Given the description of an element on the screen output the (x, y) to click on. 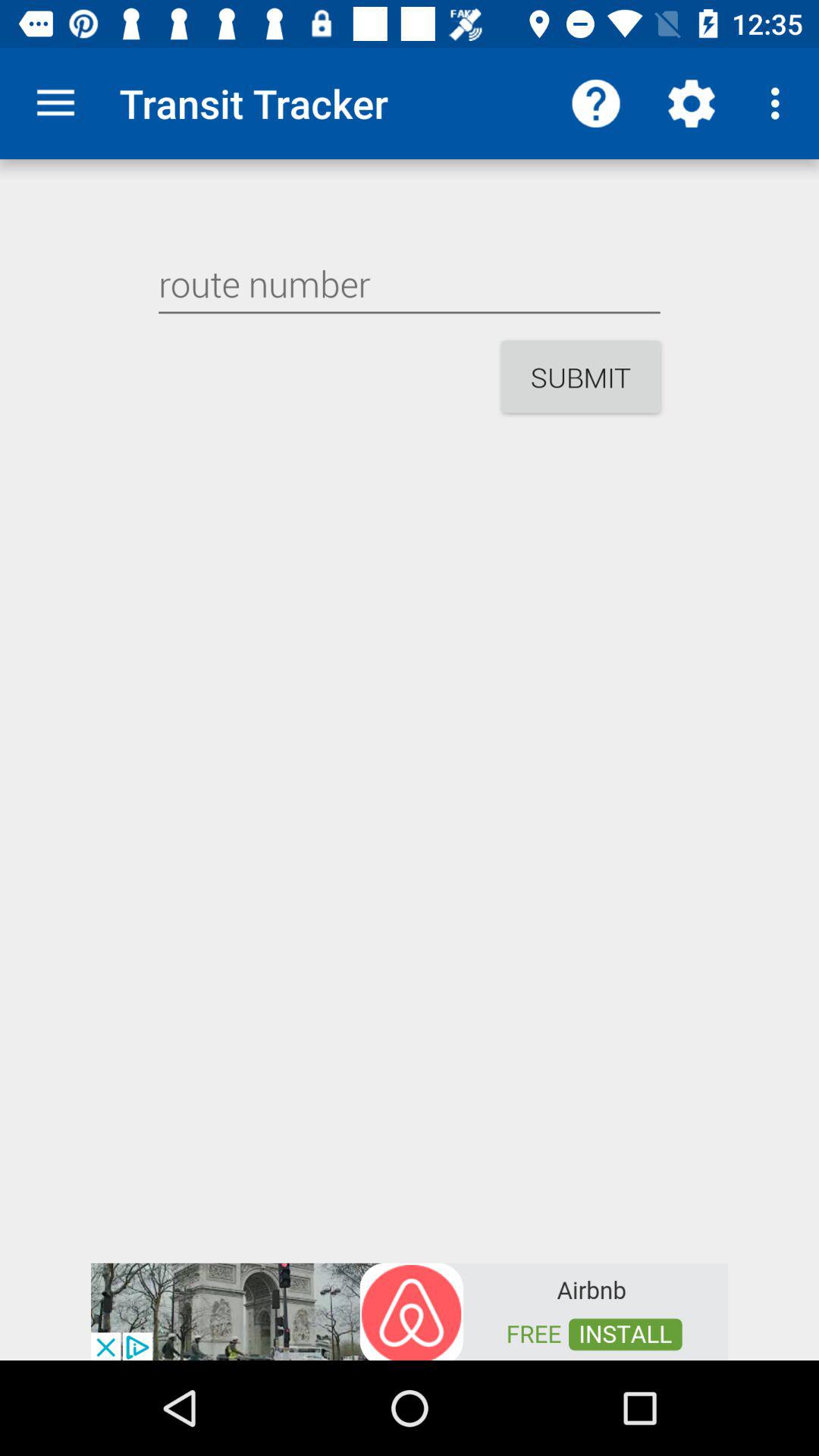
click advertisement (409, 1310)
